Given the description of an element on the screen output the (x, y) to click on. 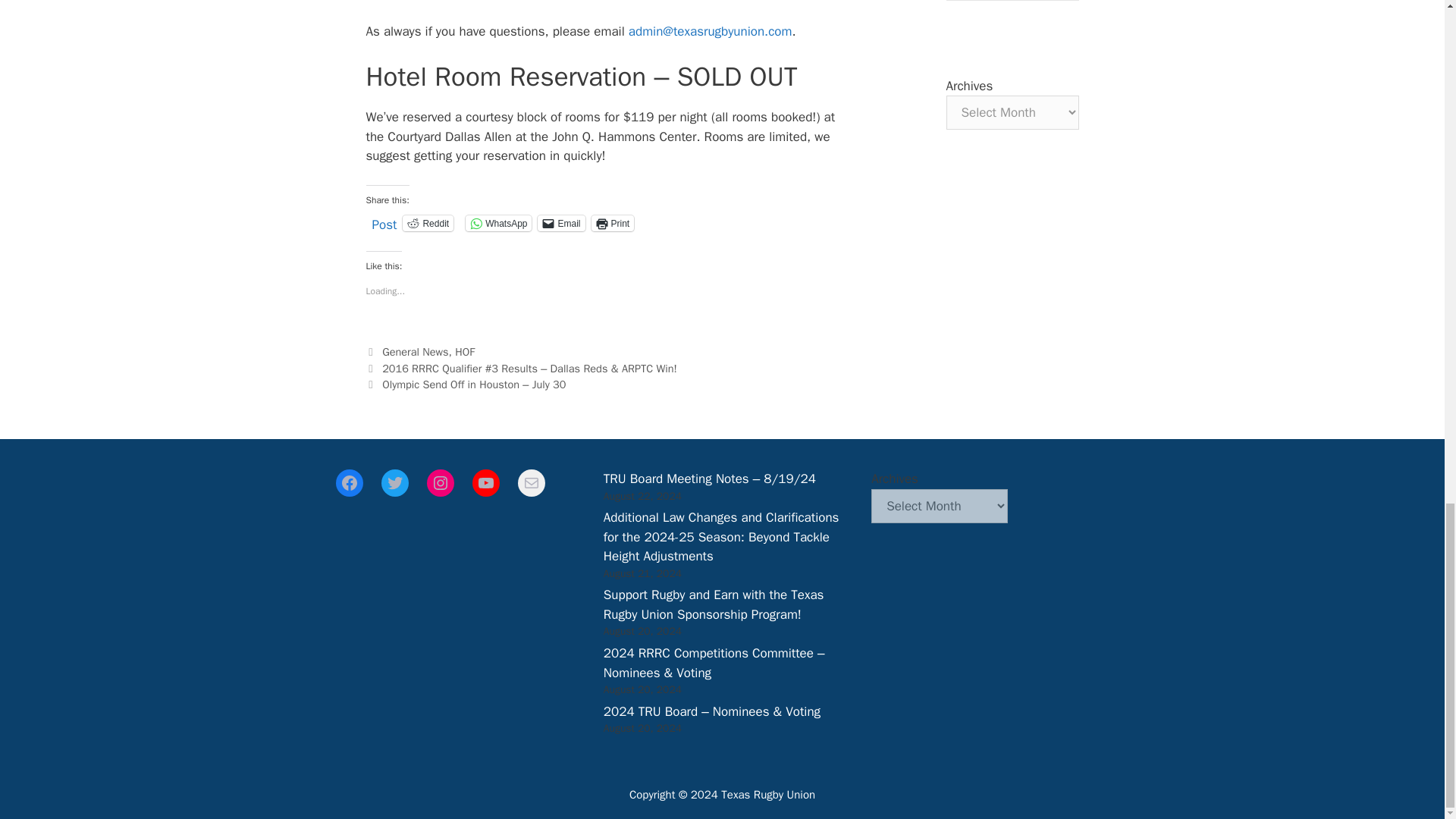
Click to share on Reddit (427, 222)
Click to share on WhatsApp (498, 222)
Scroll back to top (1406, 213)
Click to email a link to a friend (561, 222)
Click to print (612, 222)
